Given the description of an element on the screen output the (x, y) to click on. 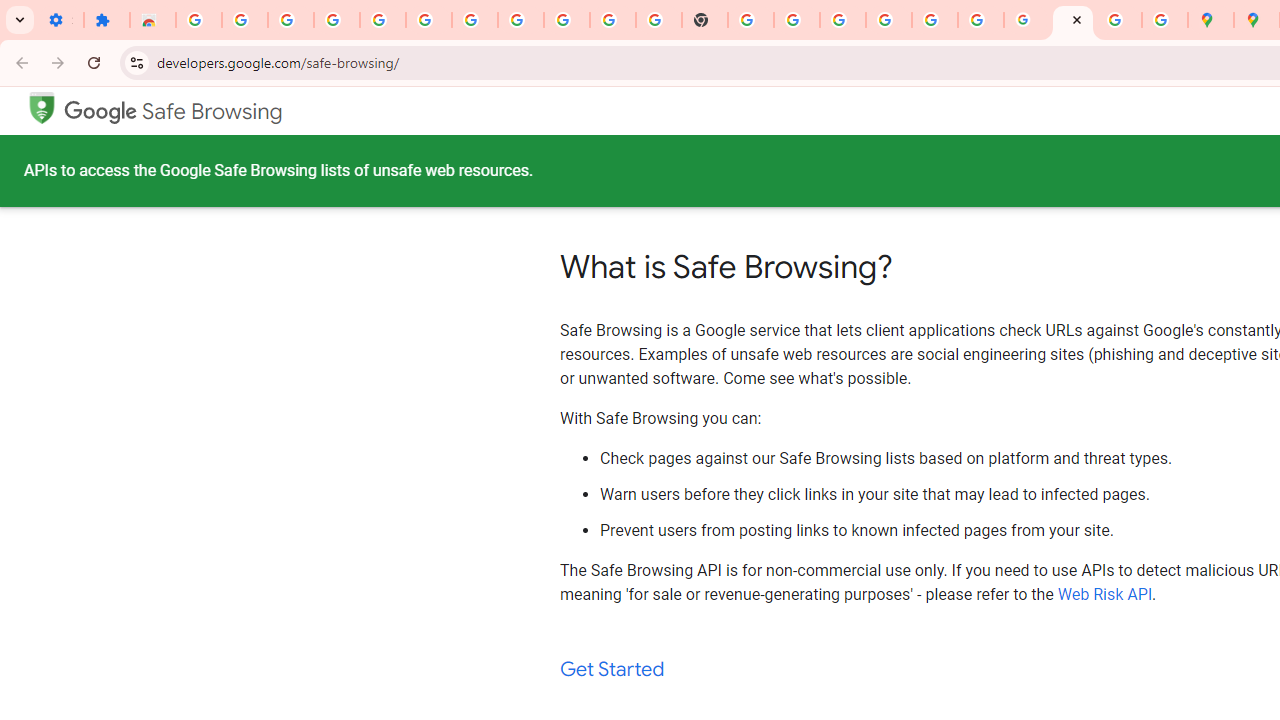
https://scholar.google.com/ (751, 20)
Sign in - Google Accounts (889, 20)
Sign in - Google Accounts (198, 20)
Delete photos & videos - Computer - Google Photos Help (336, 20)
Reviews: Helix Fruit Jump Arcade Game (153, 20)
